Given the description of an element on the screen output the (x, y) to click on. 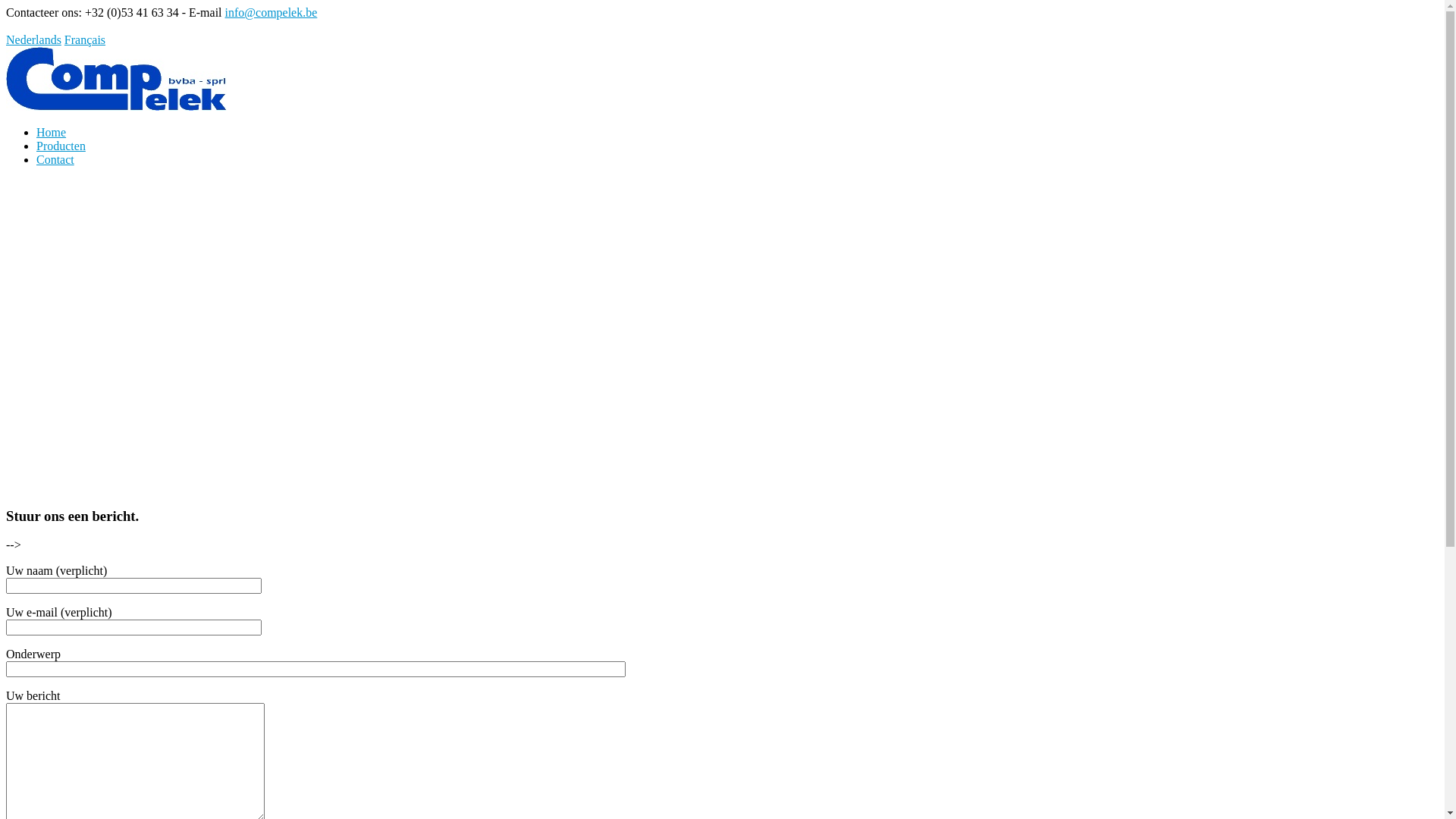
Producten Element type: text (60, 145)
Contact Element type: text (55, 159)
Nederlands Element type: text (33, 39)
info@compelek.be Element type: text (271, 12)
Home Element type: text (50, 131)
